Given the description of an element on the screen output the (x, y) to click on. 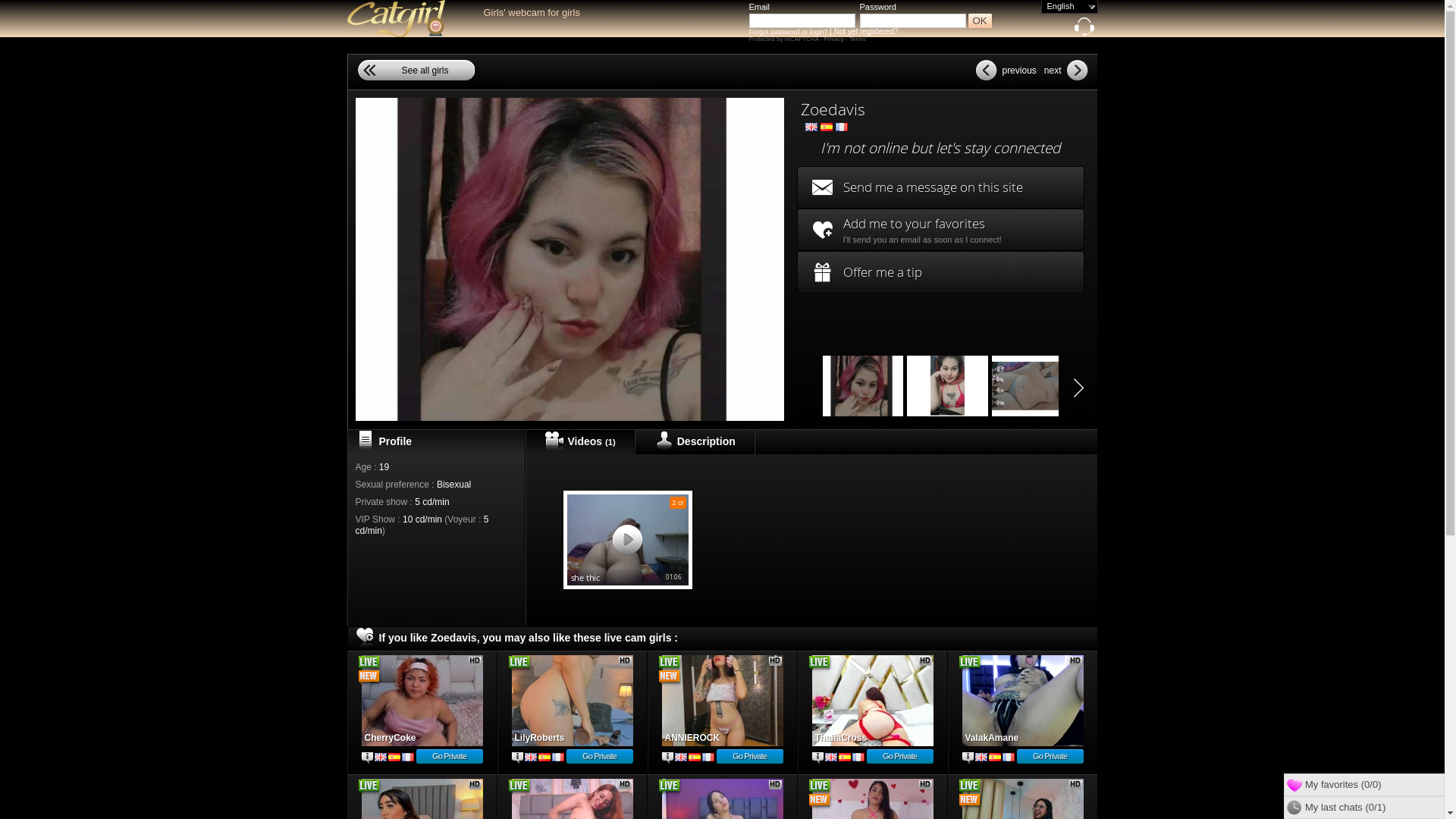
OK Element type: text (979, 20)
See all girls Element type: text (414, 70)
ValakAmane
  Element type: text (1021, 700)
Cherrycoke - sexcam Element type: hover (421, 700)
Profile Element type: text (517, 757)
Offer me a tip Element type: text (940, 271)
Terms Element type: text (857, 38)
Videos (1) Element type: text (578, 441)
Valakamane - sexcam Element type: hover (1021, 700)
CherryCoke
  Element type: text (421, 700)
zoedavis Element type: hover (862, 385)
zoedavis Element type: hover (947, 385)
Description Element type: text (694, 441)
Profile Element type: text (366, 757)
Profile Element type: text (667, 757)
At least 4 characters Element type: hover (802, 20)
Send me a message on this site Element type: text (940, 186)
Not yet registered? Element type: text (866, 31)
Go Private Element type: text (899, 756)
Profile Element type: text (817, 757)
Thaliacross - sexcam Element type: hover (871, 700)
Annierock - sexcam Element type: hover (721, 700)
Go Private Element type: text (448, 756)
English Element type: text (1068, 6)
Lilyroberts - sexcam Element type: hover (571, 700)
LilyRoberts
  Element type: text (571, 700)
Privacy Element type: text (834, 38)
zoedavis Element type: hover (1032, 385)
ThaliaCross
  Element type: text (871, 700)
At least 5 characters Element type: hover (912, 20)
Profile Element type: text (967, 757)
Forgot password or login? Element type: text (788, 31)
previous Element type: text (1007, 70)
2 cr
she thic
01:06 Element type: text (626, 539)
next Element type: text (1064, 70)
ANNIEROCK
  Element type: text (721, 700)
Need some help? Element type: hover (1083, 29)
Go Private Element type: text (748, 756)
Go Private Element type: text (1049, 756)
Go Private Element type: text (598, 756)
